Given the description of an element on the screen output the (x, y) to click on. 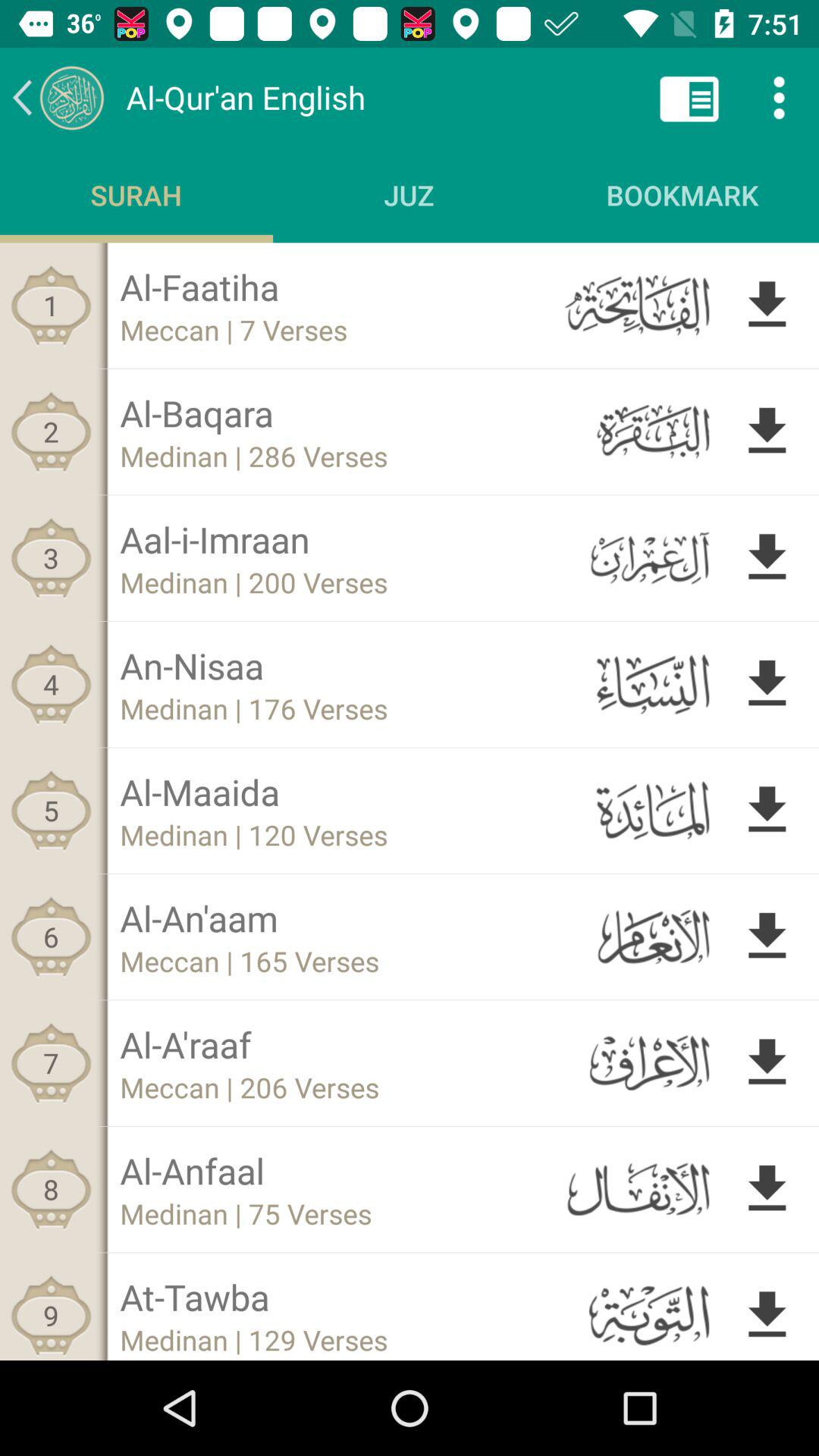
see adress book (689, 97)
